Given the description of an element on the screen output the (x, y) to click on. 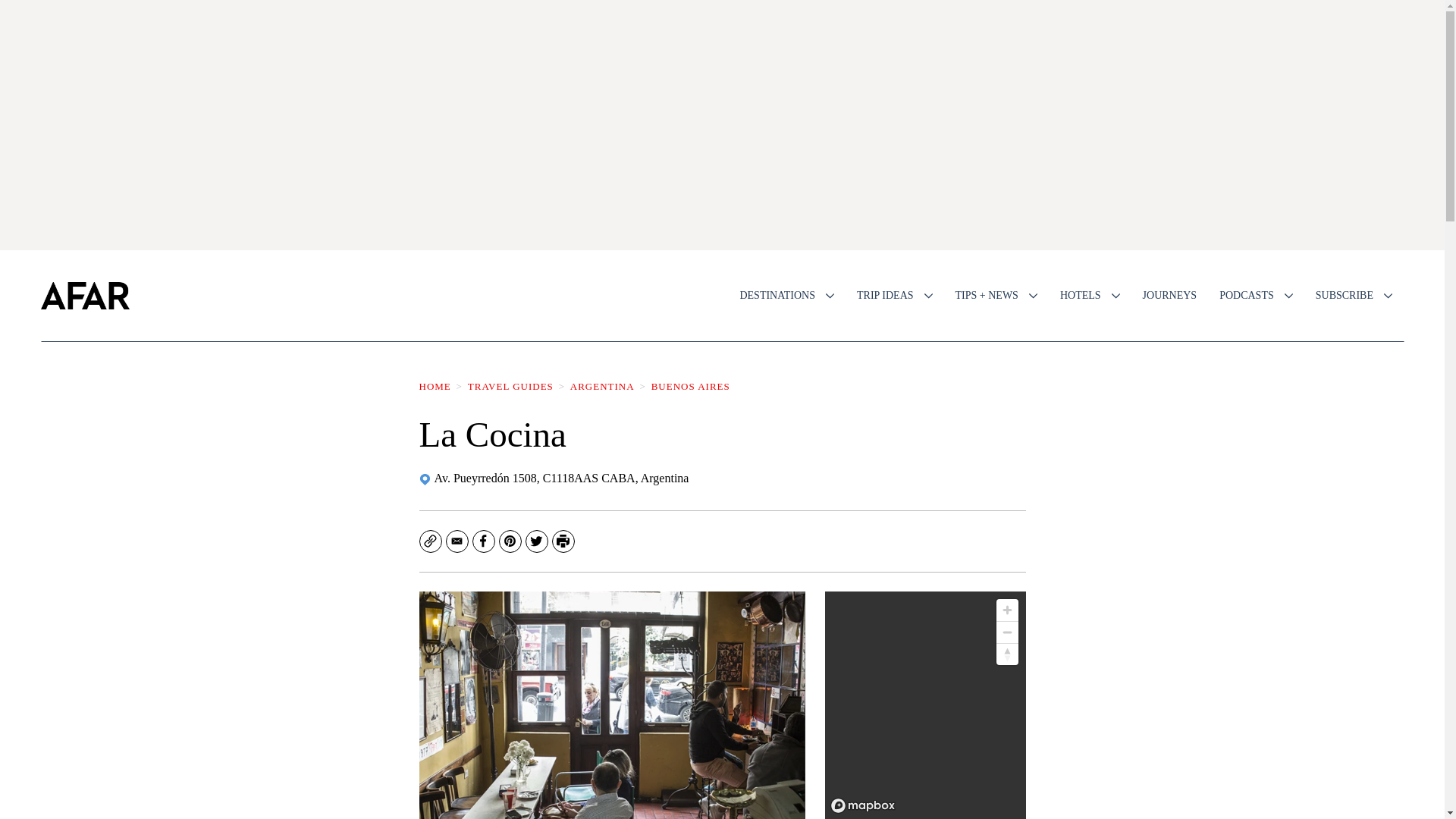
Zoom out (1006, 631)
3rd party ad content (721, 124)
Zoom in (1006, 609)
Reset bearing to north (1006, 654)
